Given the description of an element on the screen output the (x, y) to click on. 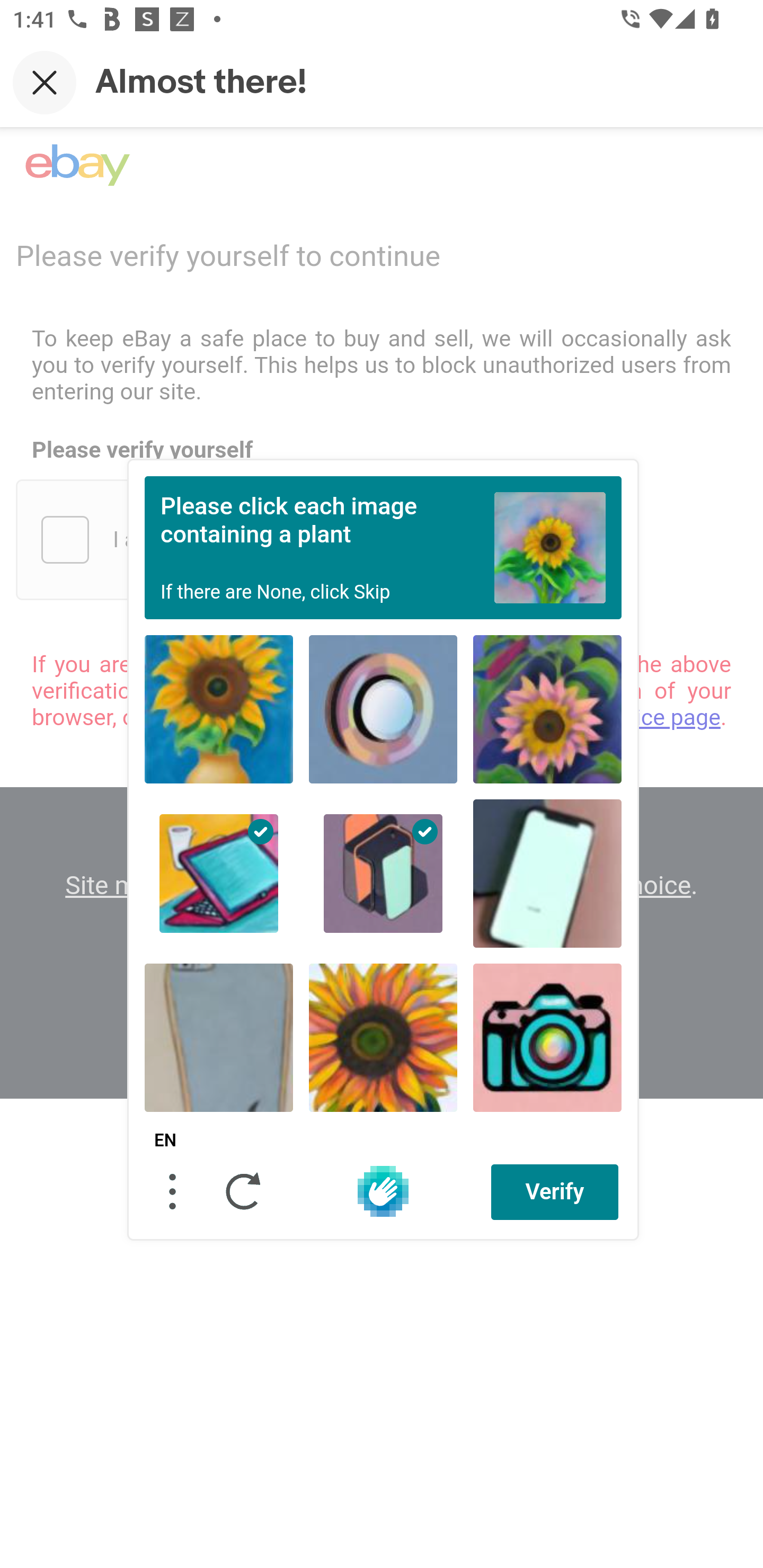
Close (44, 82)
Example image 1 (549, 546)
Challenge Image 1 (218, 708)
Challenge Image 2 (382, 708)
Challenge Image 3 (546, 708)
Challenge Image 4 (218, 873)
Challenge Image 5 (382, 873)
Challenge Image 6 (546, 873)
Challenge Image 7 (218, 1036)
Challenge Image 8 (382, 1036)
Challenge Image 9 (546, 1036)
Select a language English EN English (165, 1140)
English (165, 1140)
Verify Answers (554, 1191)
Refresh Challenge. (243, 1190)
hCaptcha (382, 1190)
